Given the description of an element on the screen output the (x, y) to click on. 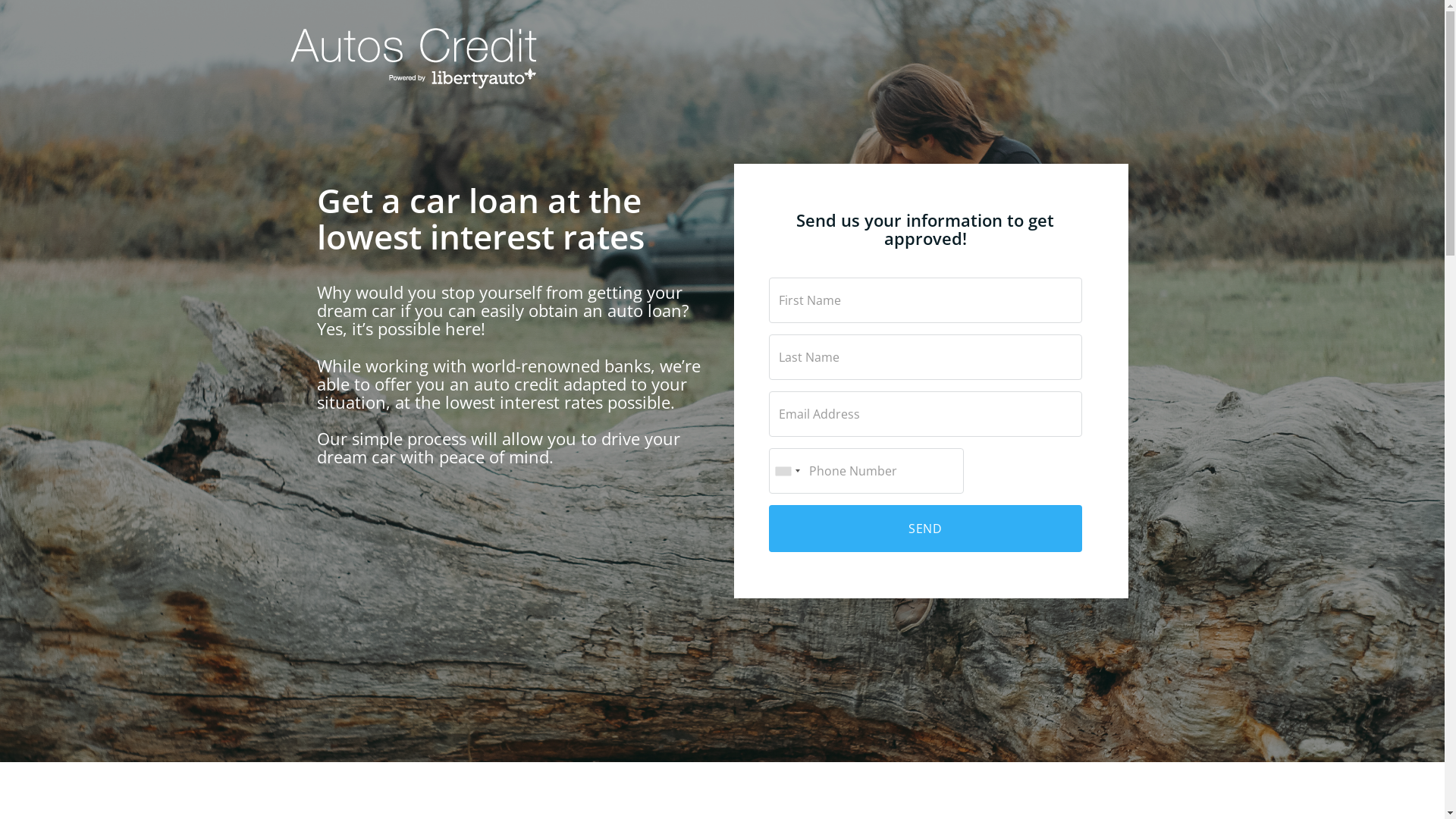
United States: +1 Element type: hover (785, 470)
Send Element type: text (925, 528)
